Given the description of an element on the screen output the (x, y) to click on. 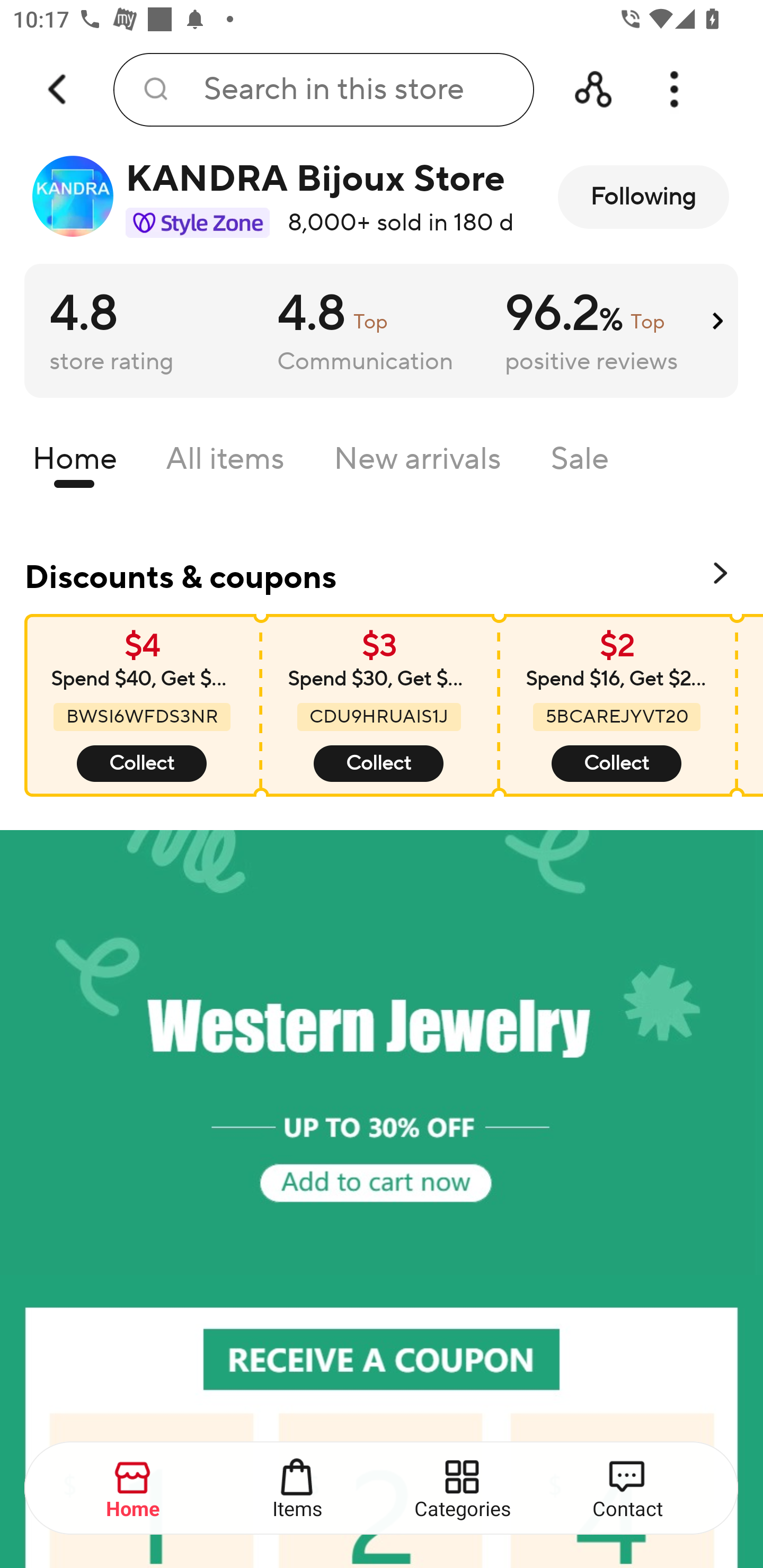
Search in this store (323, 90)
KANDRA Bijoux Store  8,000+ sold in 180 days  (272, 196)
Following (643, 196)
Home (74, 463)
All items (225, 463)
New arrivals
 (418, 463)
Sale (579, 463)
Discounts & coupons (381, 573)
Collect (141, 763)
Collect (378, 763)
Collect (616, 763)
Home (133, 1488)
Items (297, 1488)
Categories (462, 1488)
Contact (627, 1488)
